Given the description of an element on the screen output the (x, y) to click on. 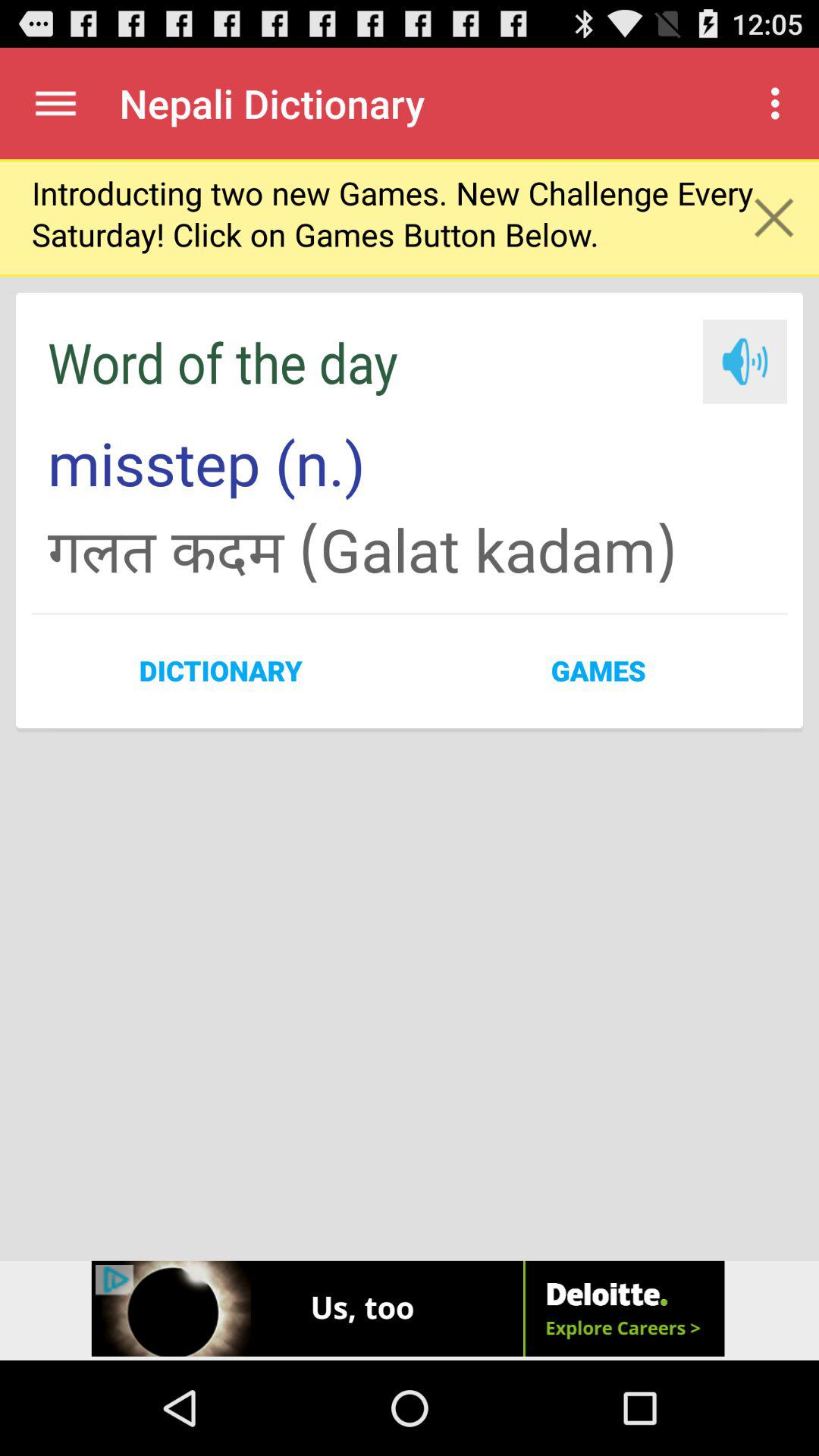
toggle volume on and off (744, 361)
